Given the description of an element on the screen output the (x, y) to click on. 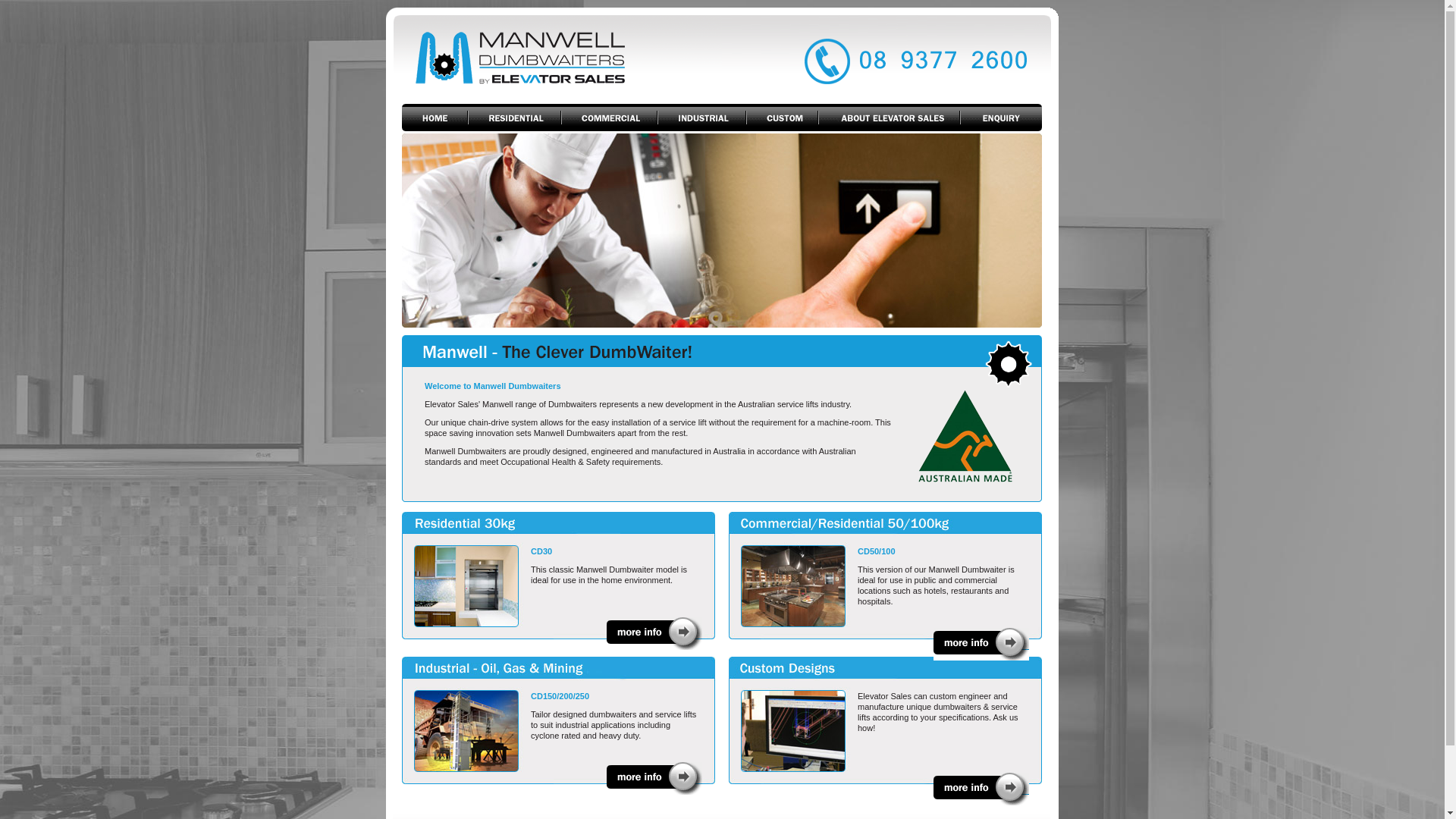
Residential Element type: text (514, 117)
manwell dumbwaiters Element type: hover (981, 788)
Industrial Element type: text (701, 117)
Custom Element type: text (782, 117)
Enquiry Element type: text (1000, 117)
manwell dumbwaiters Element type: hover (965, 435)
Home Element type: text (434, 117)
manwell dumbwaiters Element type: hover (553, 55)
manwell dumbwaiters Element type: hover (889, 55)
manwell dumbwaiters Element type: hover (654, 778)
manwell dumbwaiters Element type: hover (981, 643)
About Element type: text (889, 117)
Commercial Element type: text (609, 117)
manwell dumbwaiters Element type: hover (654, 633)
